Given the description of an element on the screen output the (x, y) to click on. 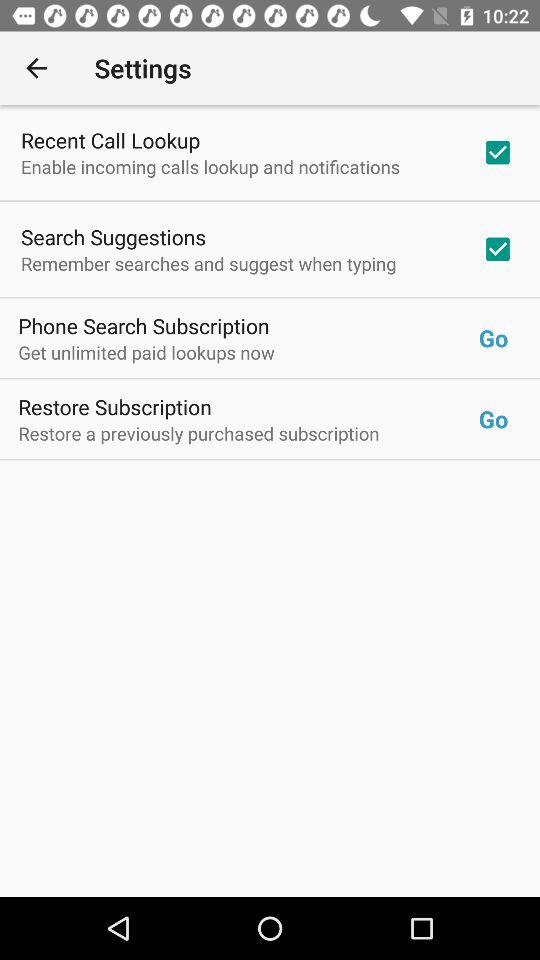
jump until the phone search subscription item (143, 325)
